Given the description of an element on the screen output the (x, y) to click on. 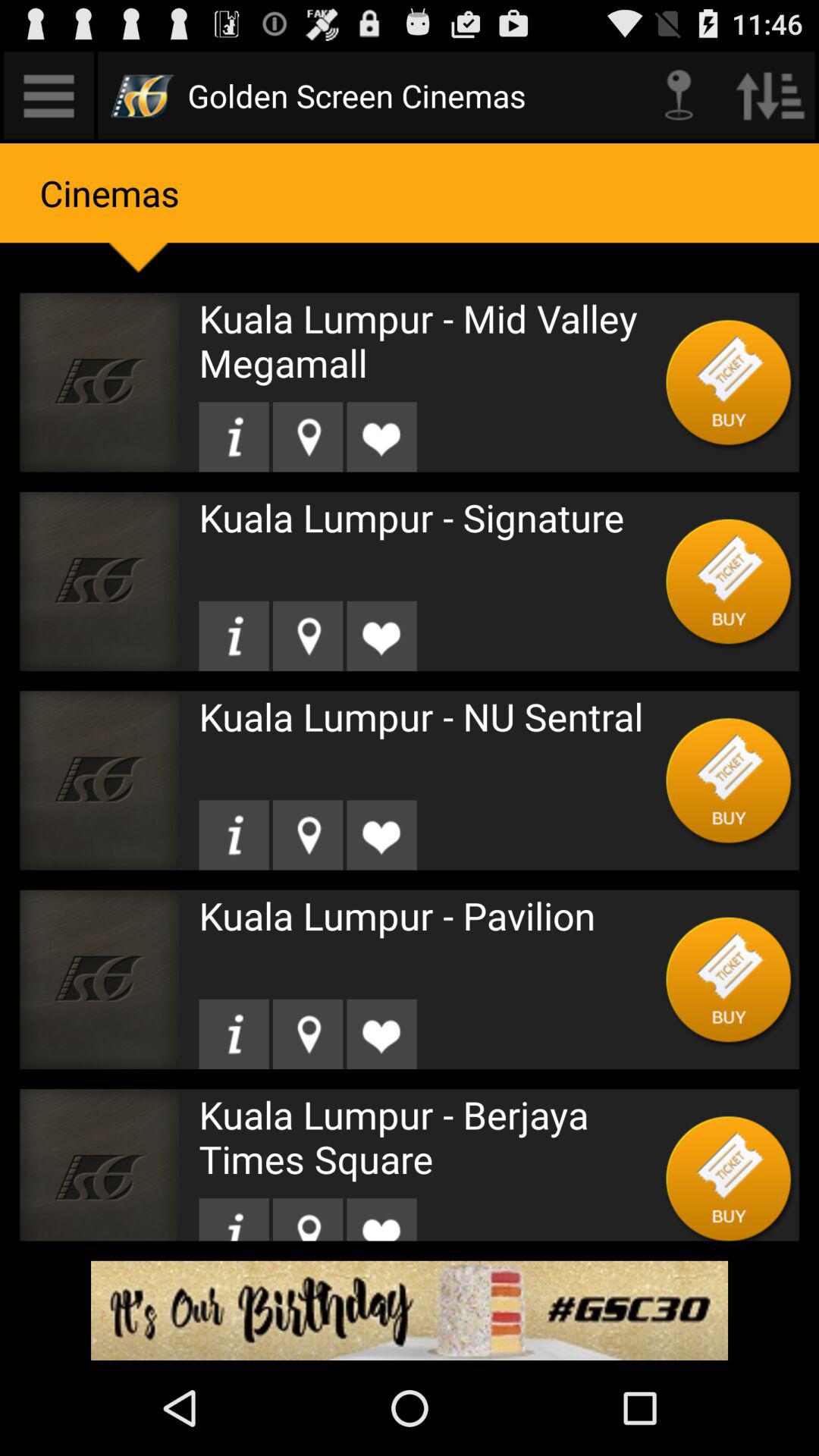
buy ticket (729, 780)
